Given the description of an element on the screen output the (x, y) to click on. 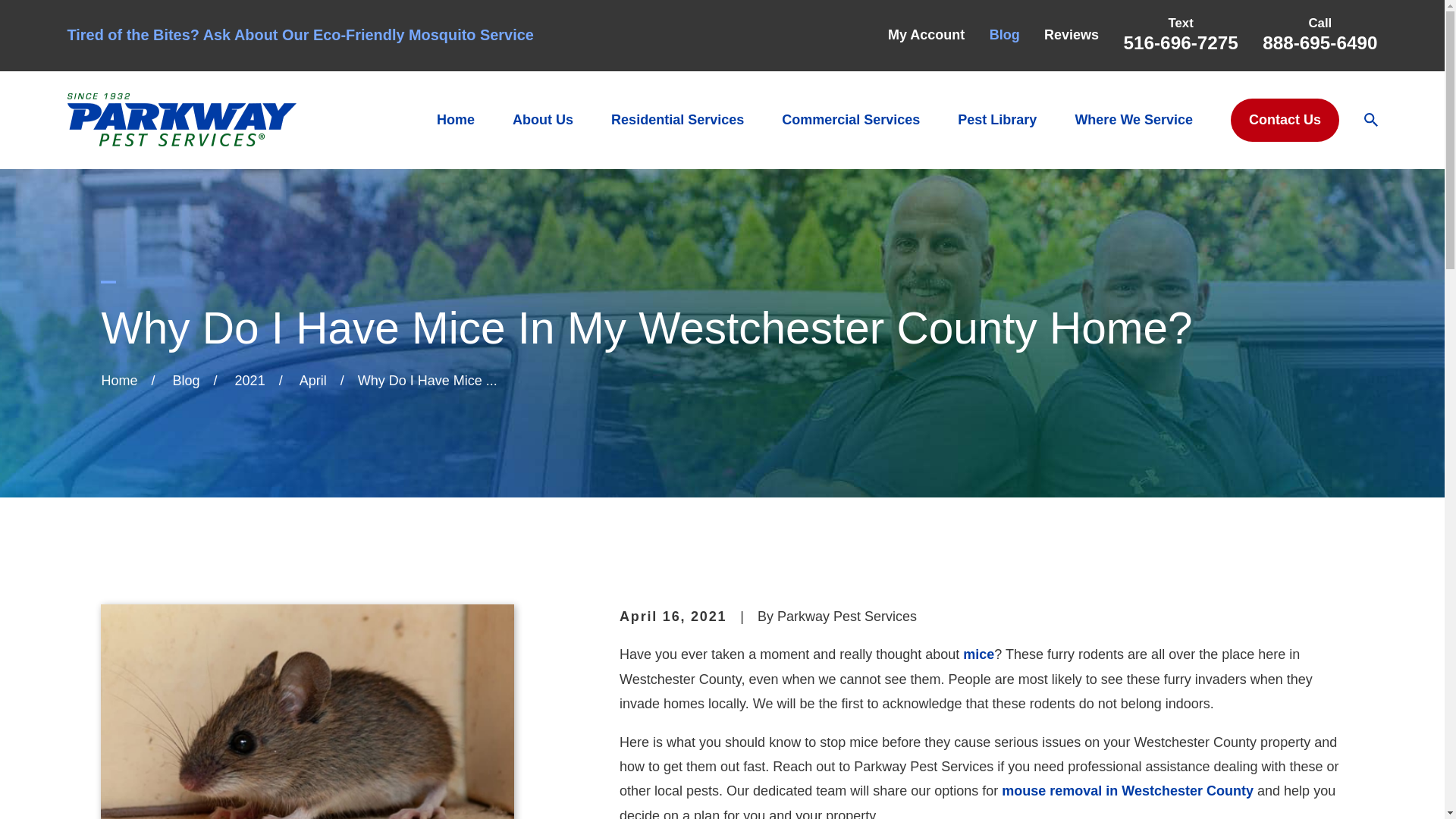
My Account (925, 34)
Go Home (118, 380)
888-695-6490 (1319, 42)
Residential Services (677, 120)
About Us (542, 120)
Commercial Services (850, 120)
Home (180, 119)
Reviews (1071, 34)
Blog (1005, 34)
